Given the description of an element on the screen output the (x, y) to click on. 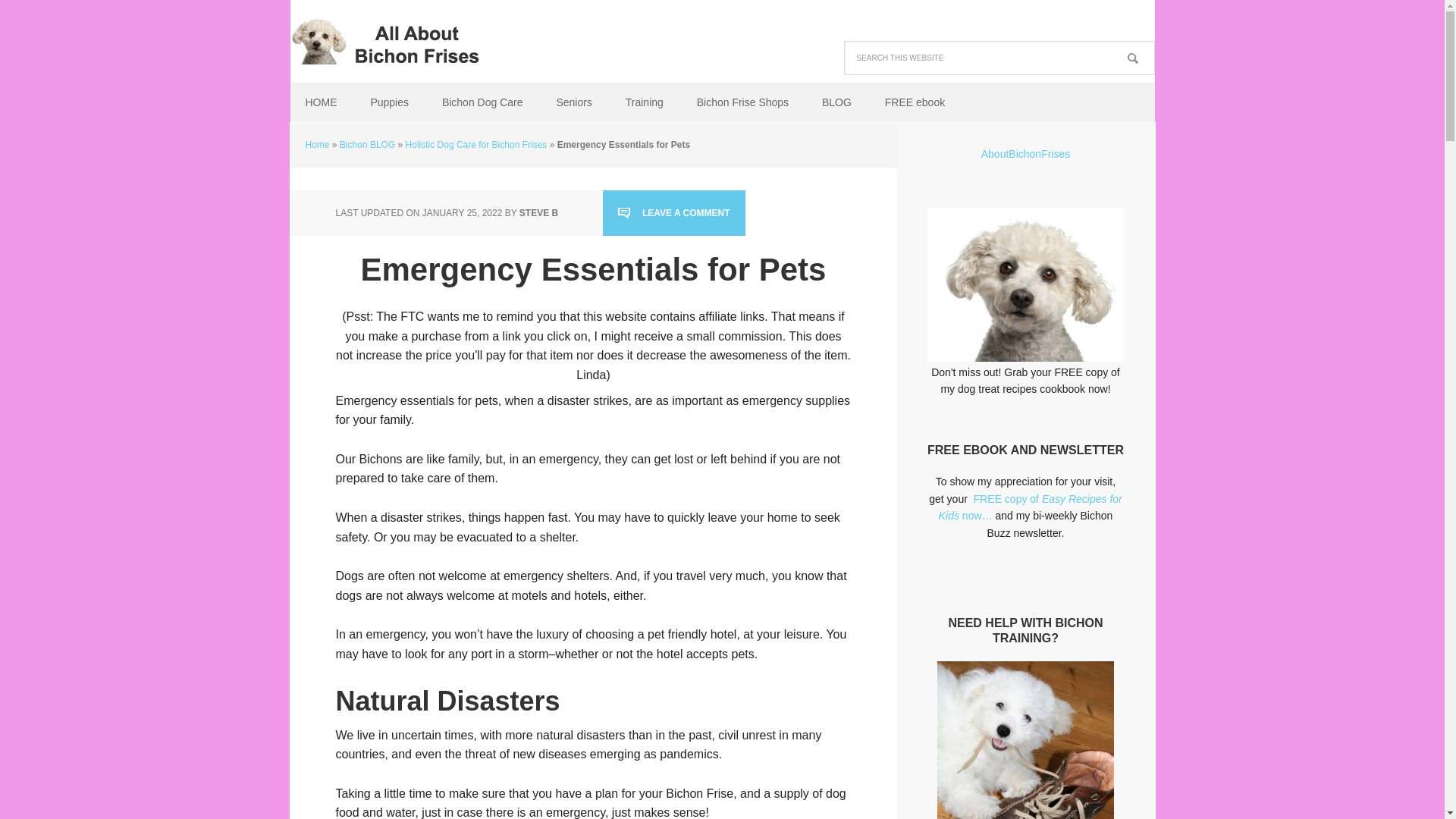
Bichon BLOG (366, 144)
Seniors (573, 102)
Training (644, 102)
Grab your FREE gift now! (1025, 284)
BLOG (836, 102)
AboutBichonFrises (1025, 153)
Holistic Dog Care for Bichon Frises (476, 144)
LEAVE A COMMENT (673, 213)
Bichon Dog Care (482, 102)
Puppies (389, 102)
Bichon Frise Shops (742, 102)
STEVE B (538, 213)
All About Bichon Frise Dogs (387, 38)
Home (316, 144)
